Given the description of an element on the screen output the (x, y) to click on. 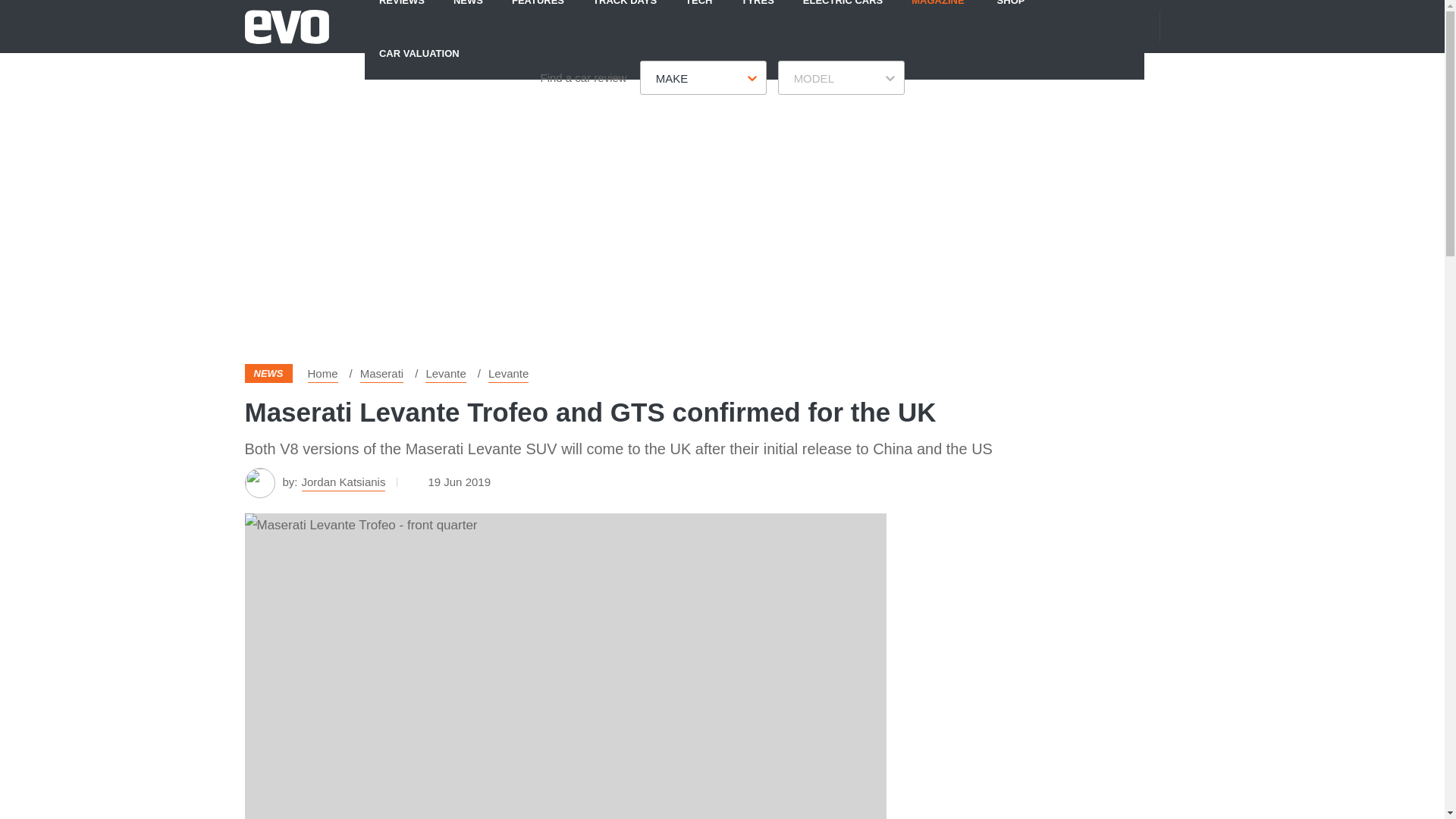
Search (1189, 26)
REVIEWS (402, 13)
MAGAZINE (937, 13)
TECH (698, 13)
NEWS (468, 13)
FEATURES (537, 13)
TRACK DAYS (624, 13)
CAR VALUATION (419, 52)
TYRES (756, 13)
SHOP (1010, 13)
ELECTRIC CARS (842, 13)
